Given the description of an element on the screen output the (x, y) to click on. 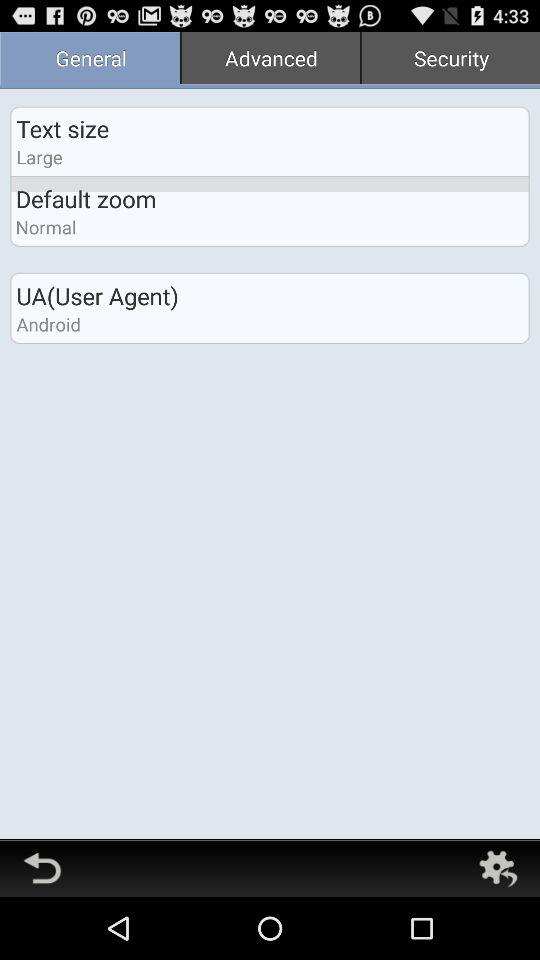
click the item at the top (270, 60)
